Given the description of an element on the screen output the (x, y) to click on. 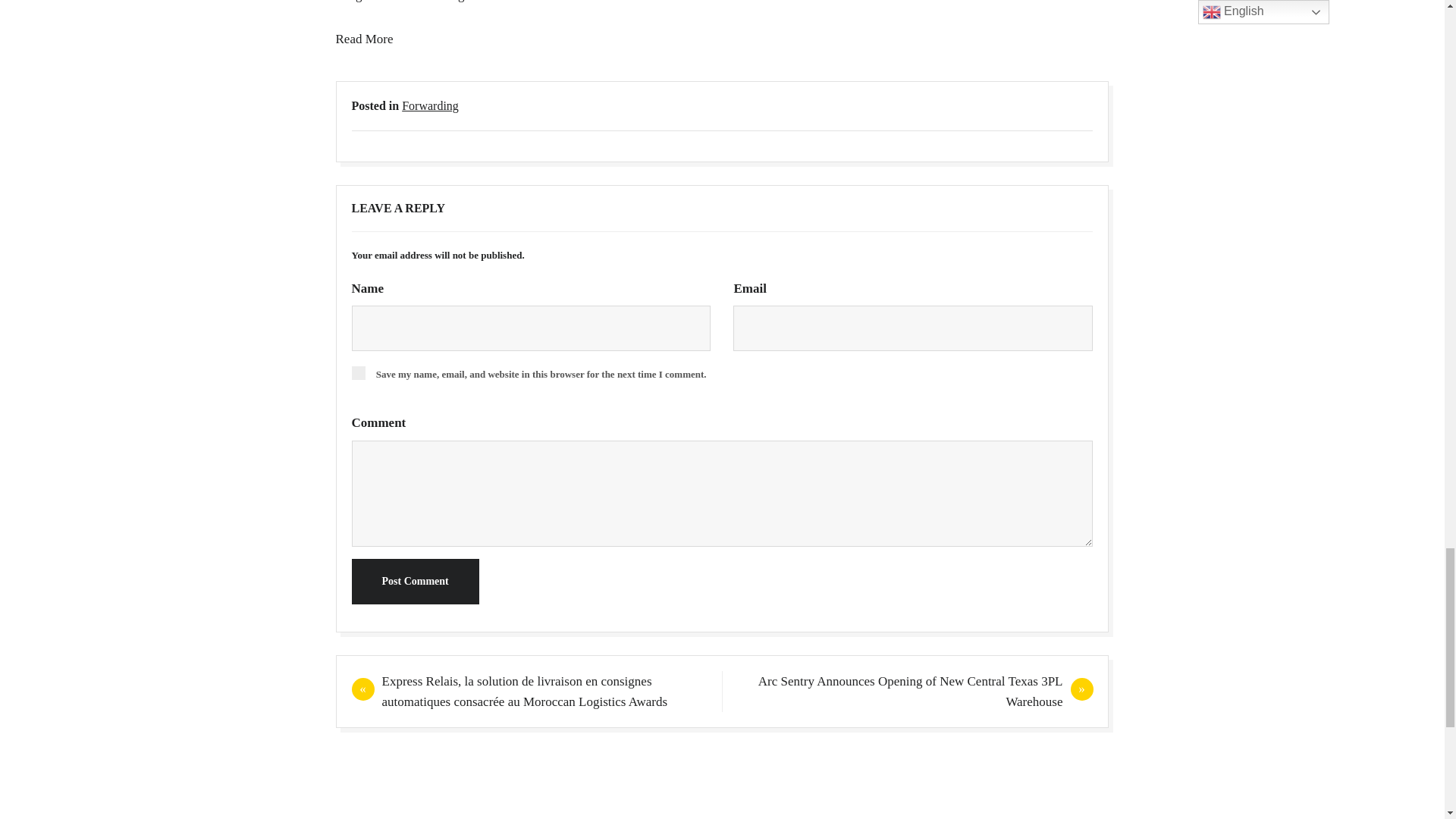
yes (358, 373)
